Given the description of an element on the screen output the (x, y) to click on. 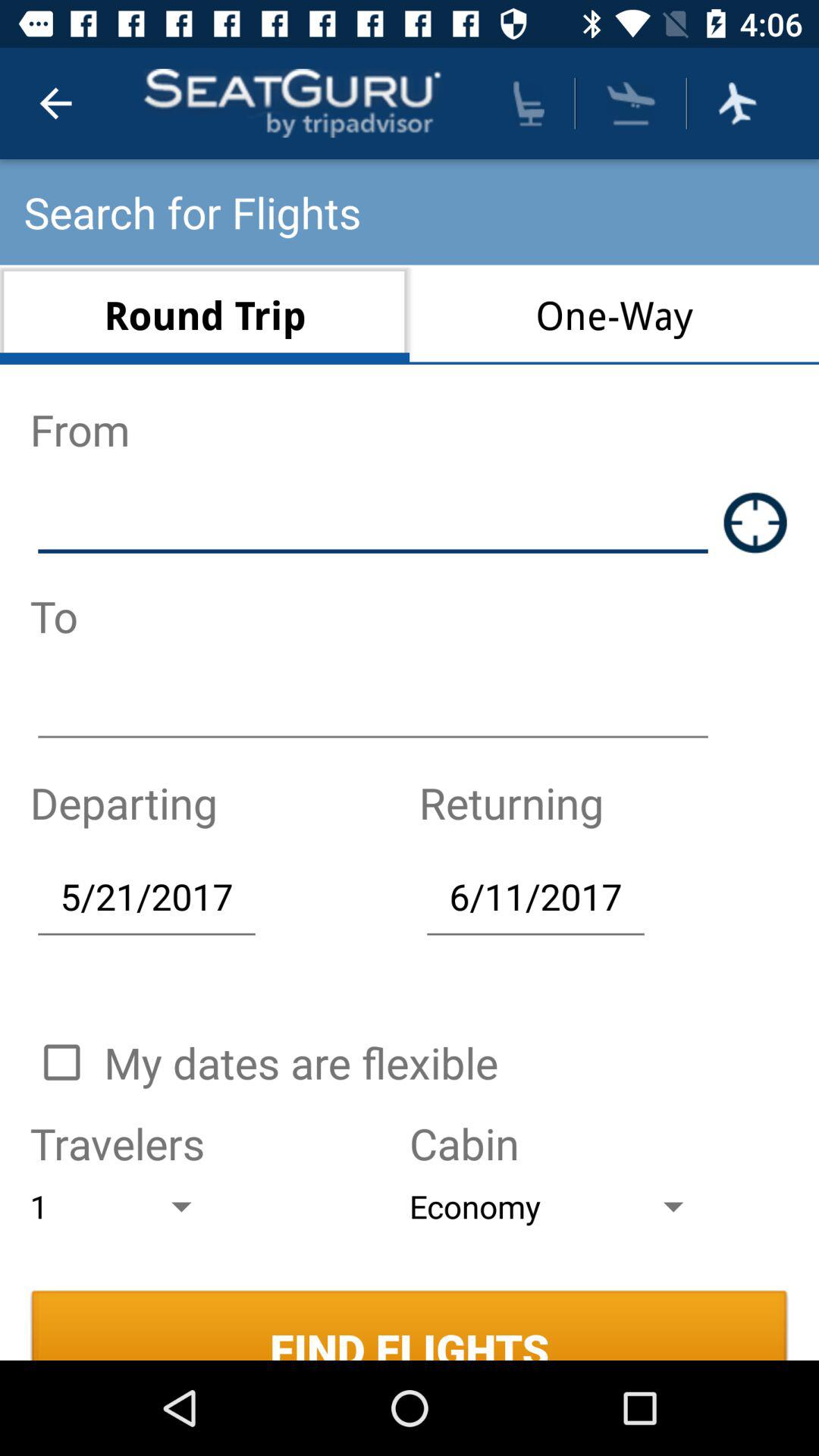
vew arrivals (630, 103)
